Given the description of an element on the screen output the (x, y) to click on. 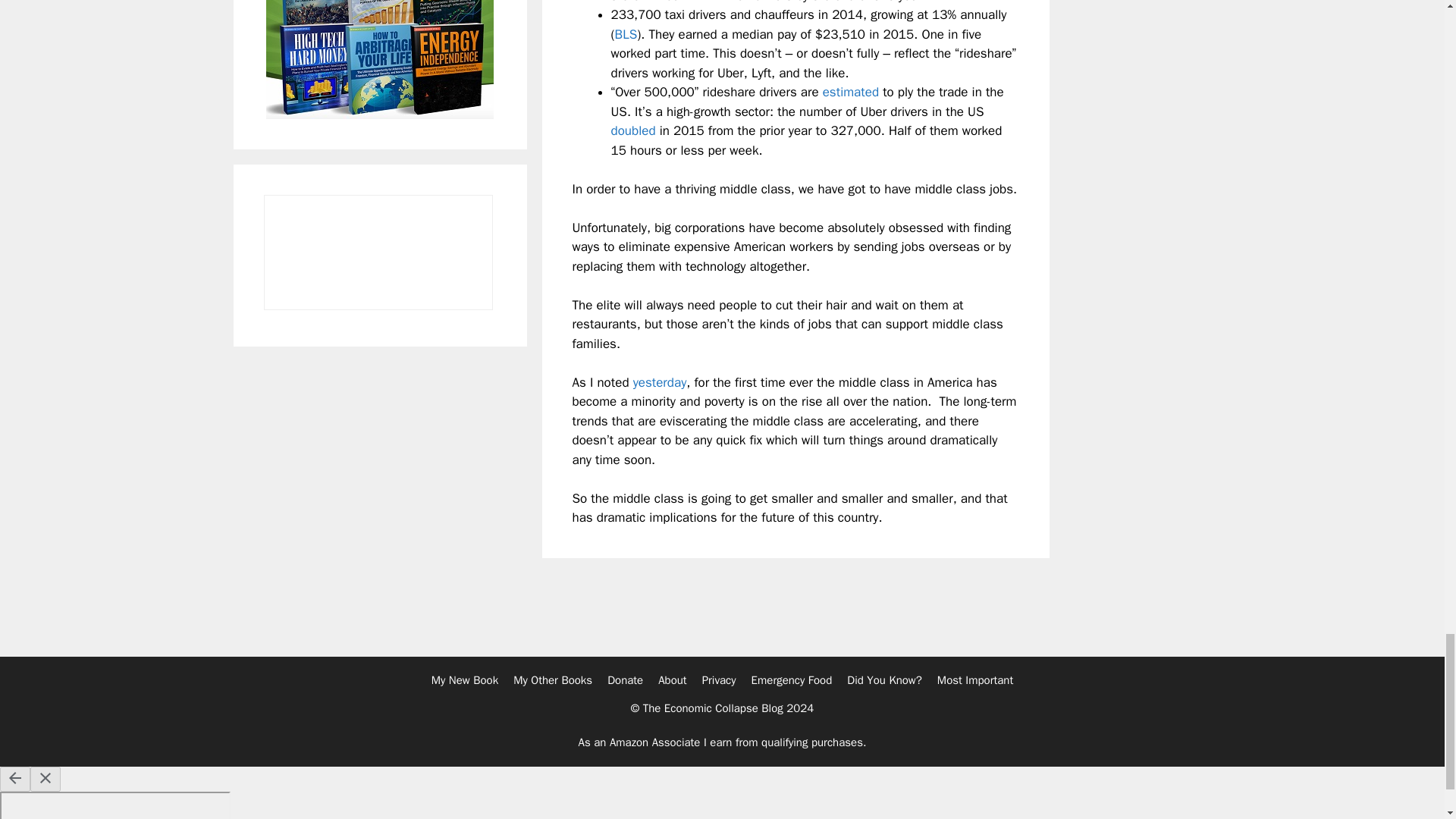
yesterday (660, 382)
doubled (633, 130)
BLS (625, 34)
estimated (850, 91)
